Given the description of an element on the screen output the (x, y) to click on. 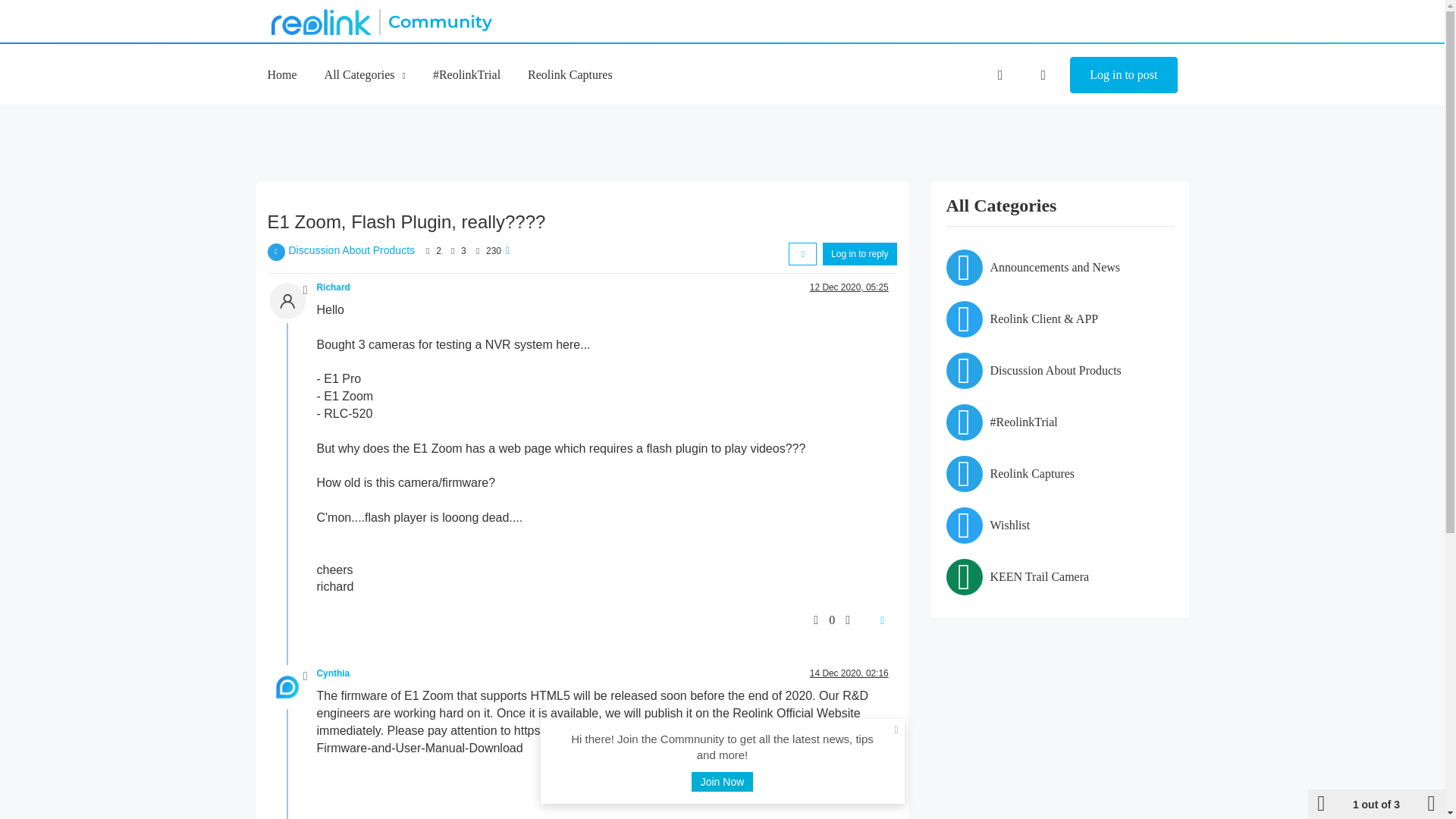
12 Dec 2020, 05:25 (848, 286)
Richard (333, 286)
12 Dec 2020, 05:25 (848, 286)
Log in to post (1123, 75)
230 (493, 250)
Posts (452, 250)
Home (281, 74)
Log in to reply (859, 253)
Views (477, 250)
Discussion About Products (351, 250)
All Categories (365, 74)
Posters (427, 250)
Reolink Captures (569, 74)
